Given the description of an element on the screen output the (x, y) to click on. 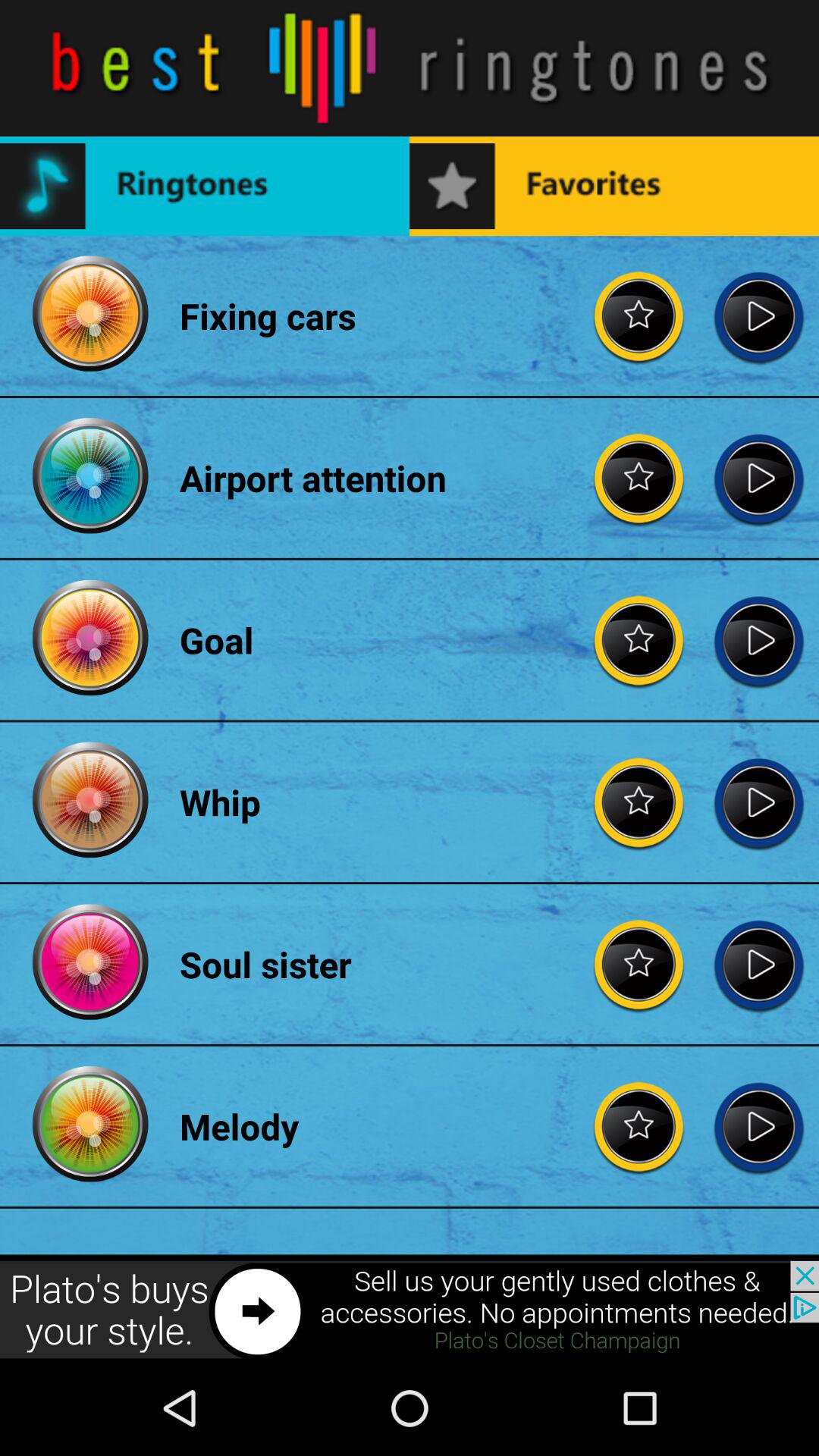
tap to favorite (639, 801)
